Given the description of an element on the screen output the (x, y) to click on. 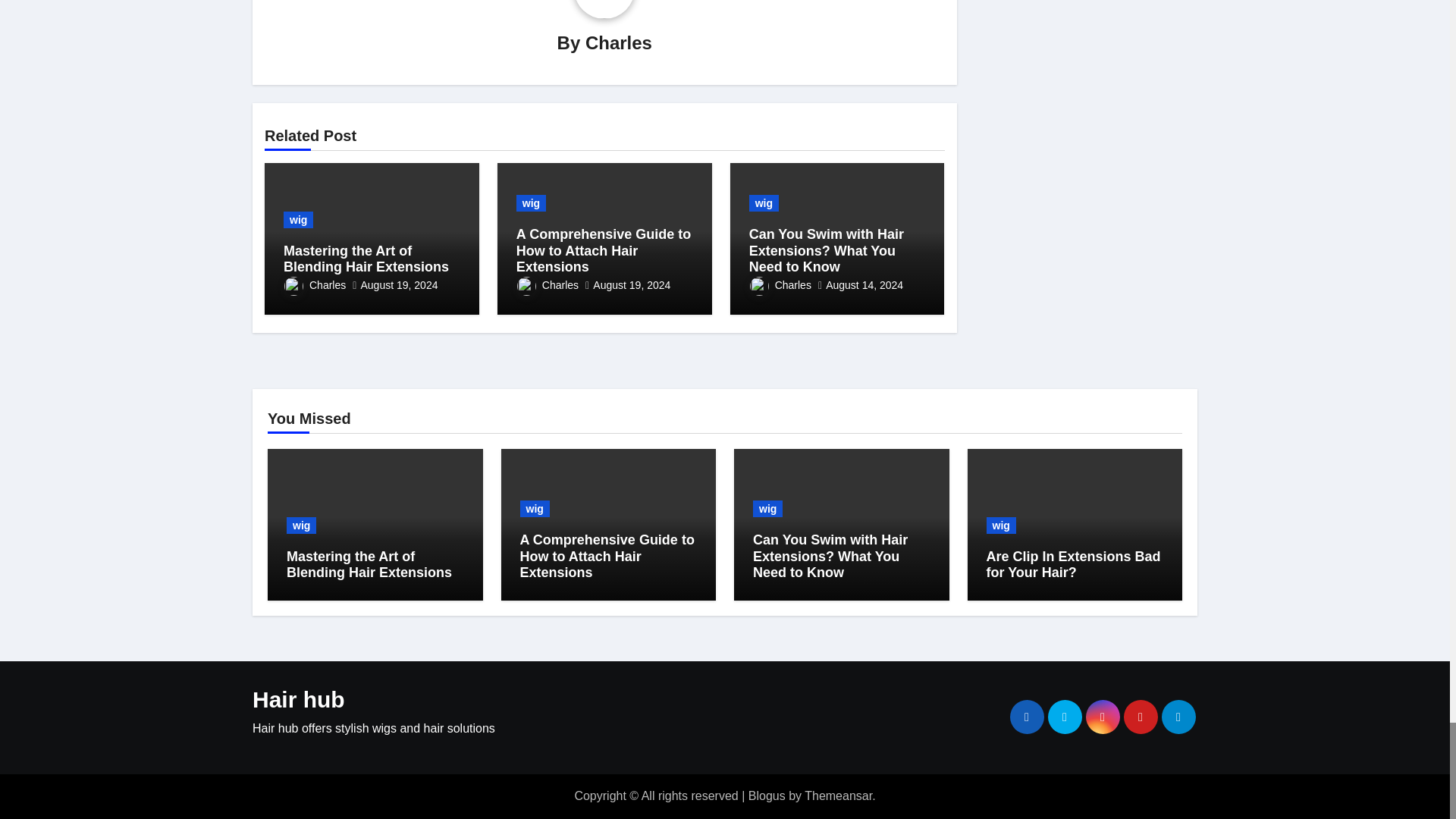
Permalink to: Are Clip In Extensions Bad for Your Hair? (1072, 564)
Permalink to: Mastering the Art of Blending Hair Extensions (368, 564)
Permalink to: Mastering the Art of Blending Hair Extensions (365, 259)
